Given the description of an element on the screen output the (x, y) to click on. 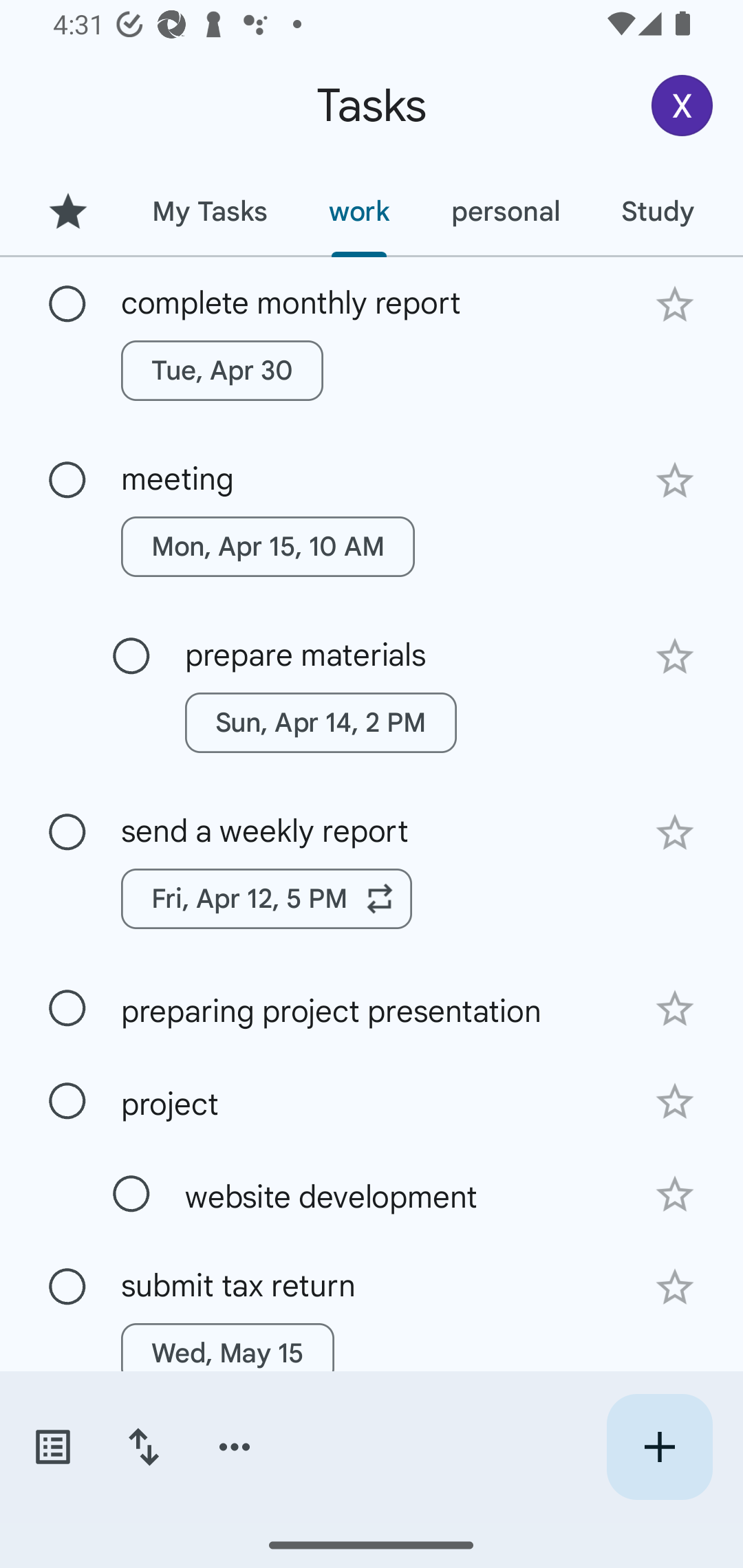
Starred (67, 211)
My Tasks (209, 211)
personal (504, 211)
Study (656, 211)
Add star (674, 303)
Mark as complete (67, 304)
Tue, Apr 30 (222, 369)
Add star (674, 480)
Mark as complete (67, 480)
Mon, Apr 15, 10 AM (267, 546)
Add star (674, 656)
Mark as complete (131, 655)
Sun, Apr 14, 2 PM (320, 722)
Add star (674, 832)
Mark as complete (67, 833)
Fri, Apr 12, 5 PM (266, 897)
Add star (674, 1007)
Mark as complete (67, 1008)
Add star (674, 1101)
Mark as complete (67, 1101)
Add star (674, 1194)
Mark as complete (131, 1193)
Add star (674, 1286)
Mark as complete (67, 1287)
Wed, May 15 (227, 1352)
Switch task lists (52, 1447)
Create new task (659, 1446)
Change sort order (143, 1446)
More options (234, 1446)
